Given the description of an element on the screen output the (x, y) to click on. 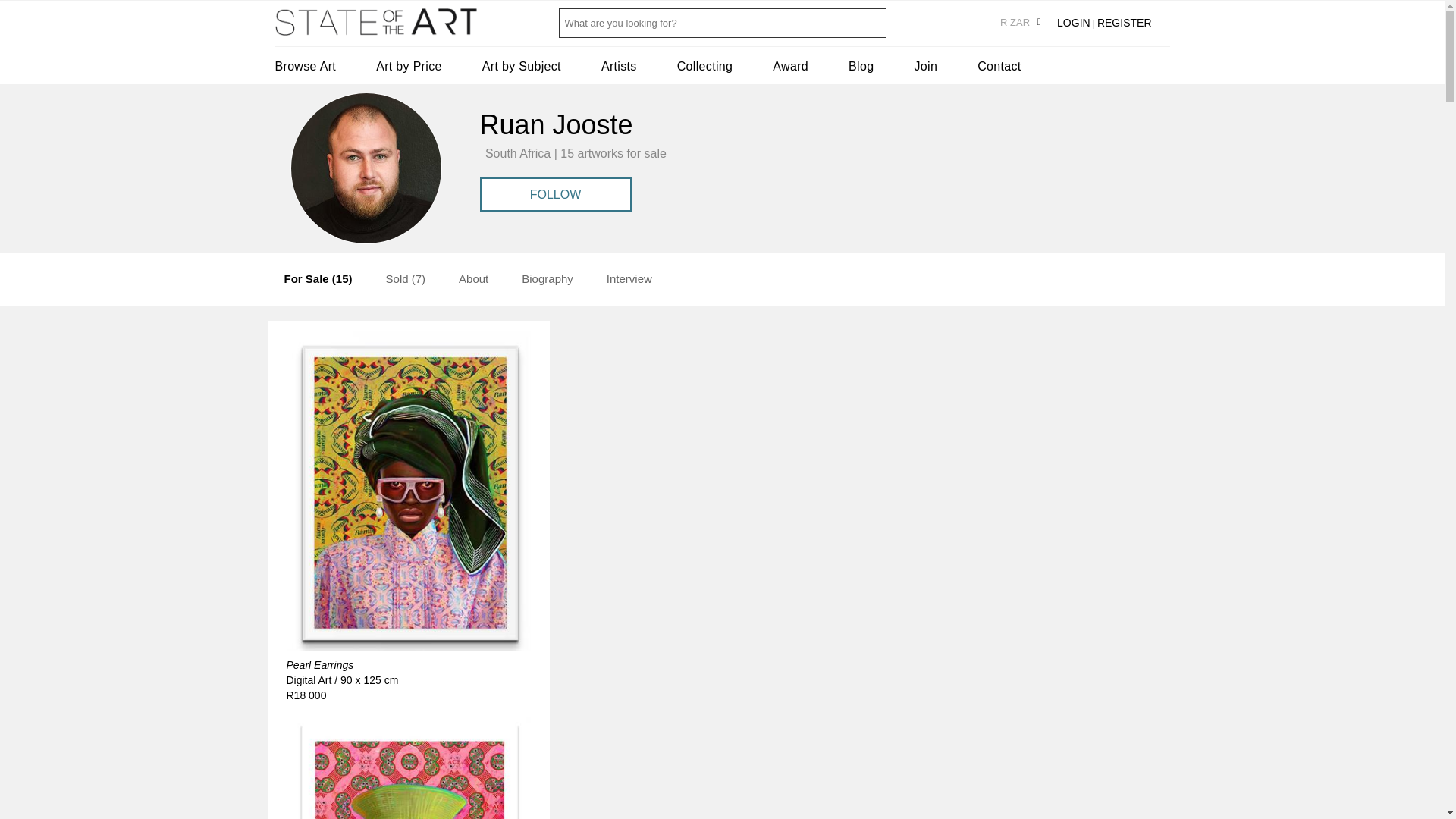
REGISTER (1124, 22)
StateoftheART Gallery (377, 26)
LOGIN (1073, 22)
Art by Price (408, 66)
Browse Art (305, 66)
Art by Subject (520, 66)
